Given the description of an element on the screen output the (x, y) to click on. 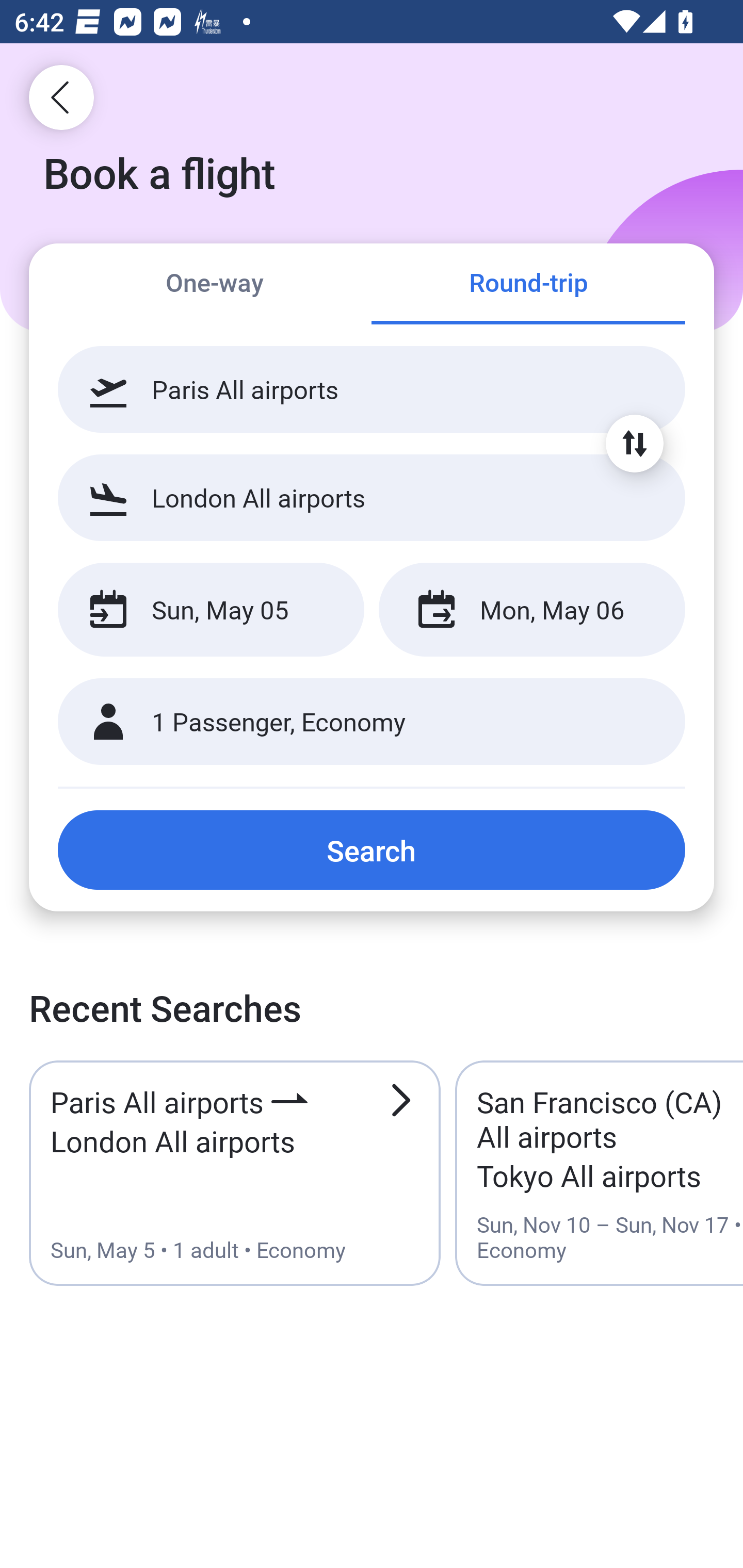
One-way (214, 284)
Paris All airports (371, 389)
London All airports (371, 497)
Sun, May 05 (210, 609)
Mon, May 06 (531, 609)
1 Passenger, Economy (371, 721)
Search (371, 849)
